Given the description of an element on the screen output the (x, y) to click on. 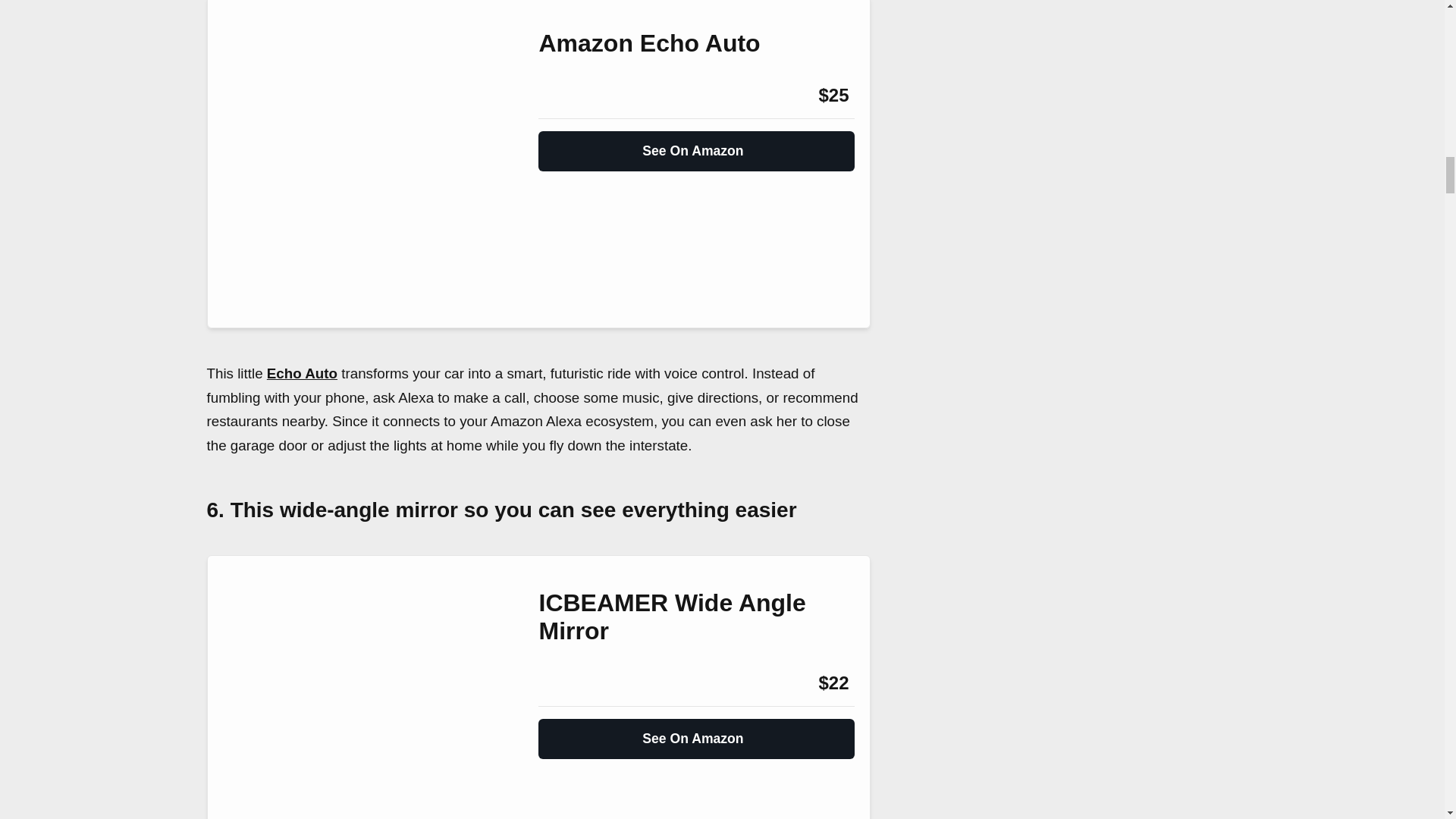
See On Amazon (696, 732)
Echo Auto (301, 373)
See On Amazon (696, 144)
Amazon (579, 95)
Amazon (579, 683)
